Given the description of an element on the screen output the (x, y) to click on. 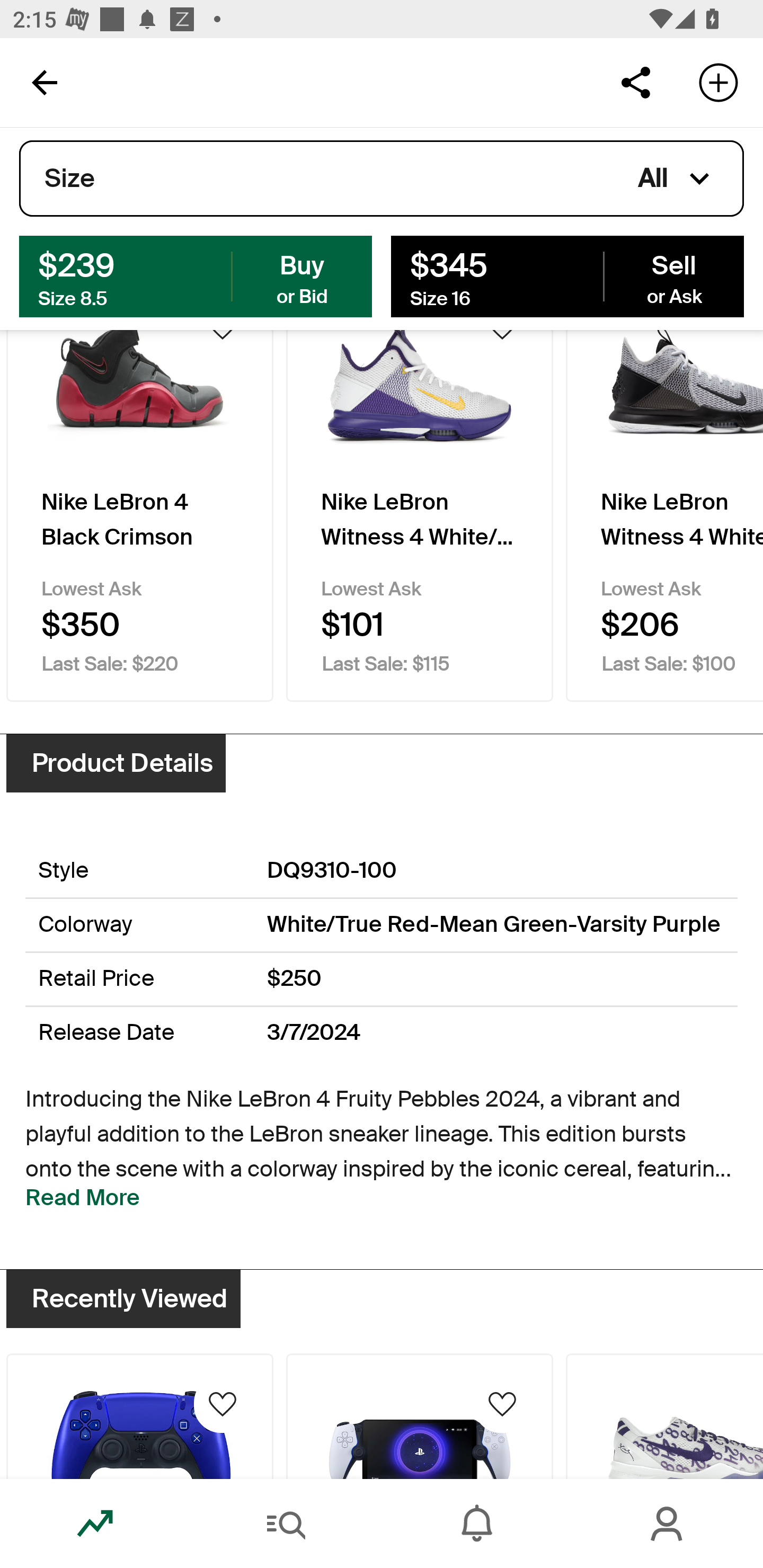
Share (635, 81)
Add (718, 81)
Size All (381, 178)
$239 Buy Size 8.5 or Bid (195, 275)
$345 Sell Size 16 or Ask (566, 275)
Read More (82, 1197)
Product Image (139, 1415)
Product Image (419, 1415)
Product Image (664, 1415)
Search (285, 1523)
Inbox (476, 1523)
Account (667, 1523)
